Given the description of an element on the screen output the (x, y) to click on. 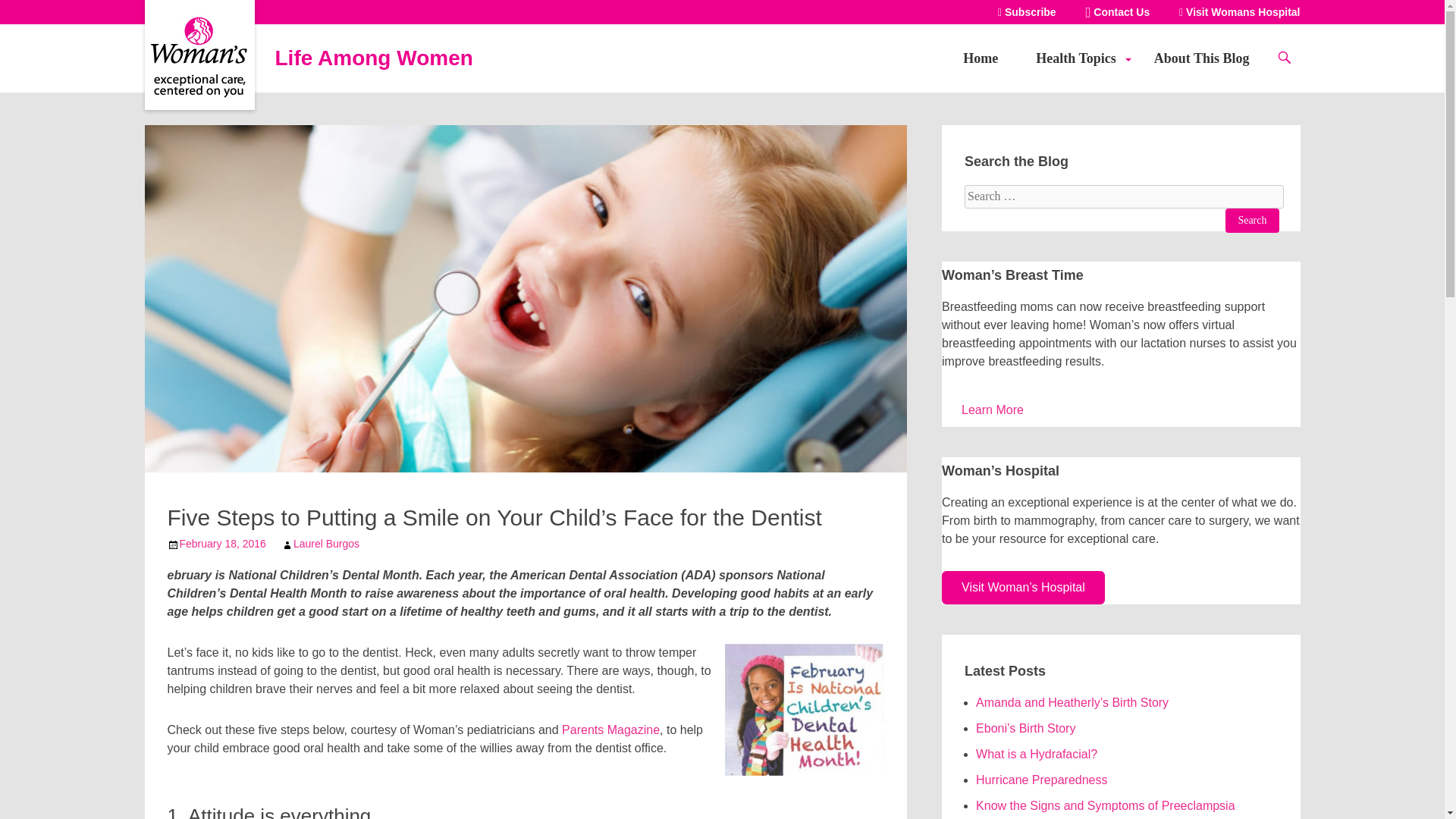
Search (1251, 219)
Learn More (992, 409)
Search (1251, 219)
Life Among Women (373, 57)
Search (1251, 219)
Life Among Women (197, 82)
February 18, 2016 (221, 543)
Contact Us (1118, 11)
Subscribe (1027, 11)
About This Blog (1201, 58)
Home (979, 58)
Parents (583, 729)
Life Among Women (373, 57)
Laurel Burgos (326, 543)
Magazine (633, 729)
